Given the description of an element on the screen output the (x, y) to click on. 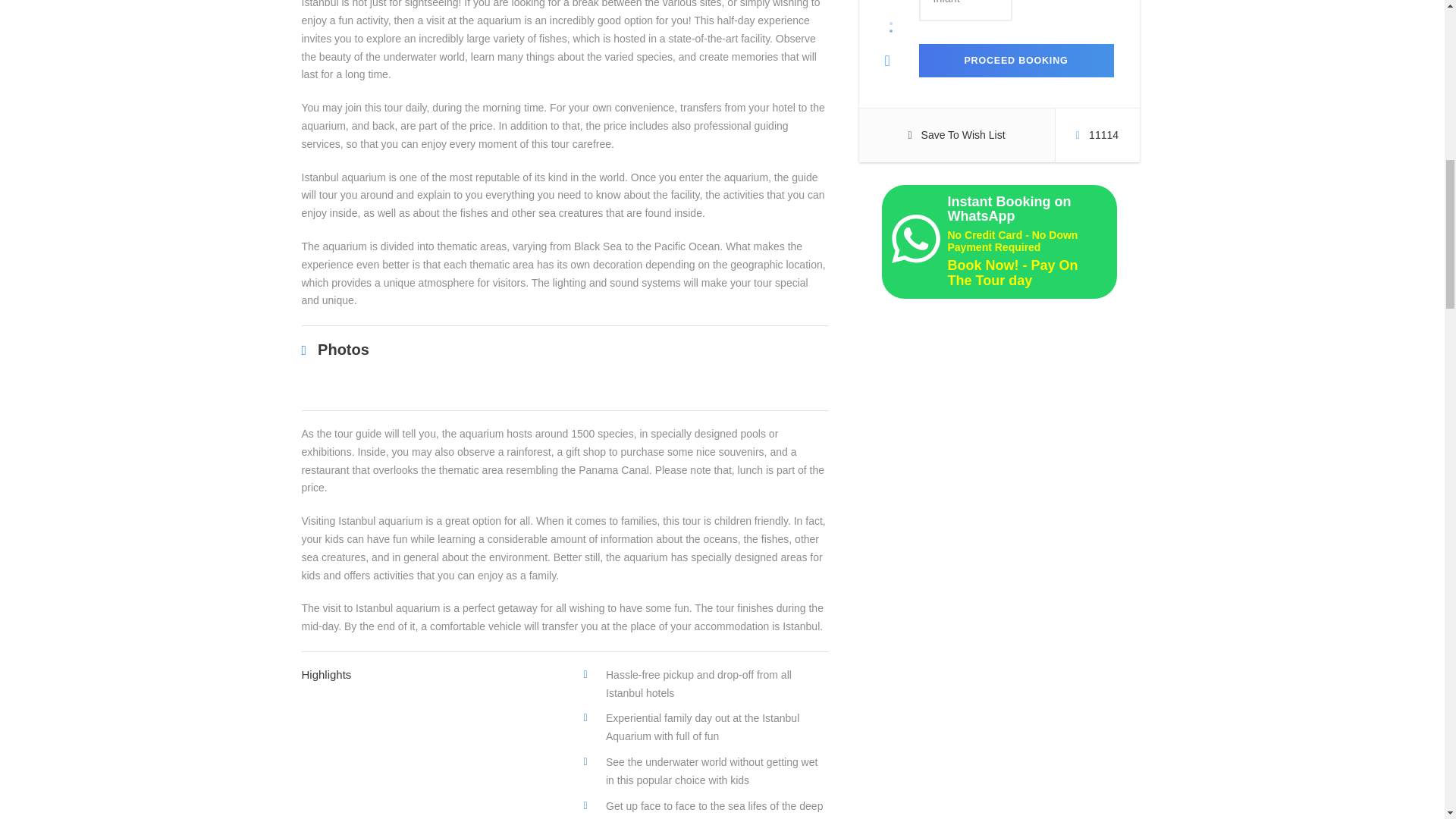
Proceed Booking (1015, 60)
